Given the description of an element on the screen output the (x, y) to click on. 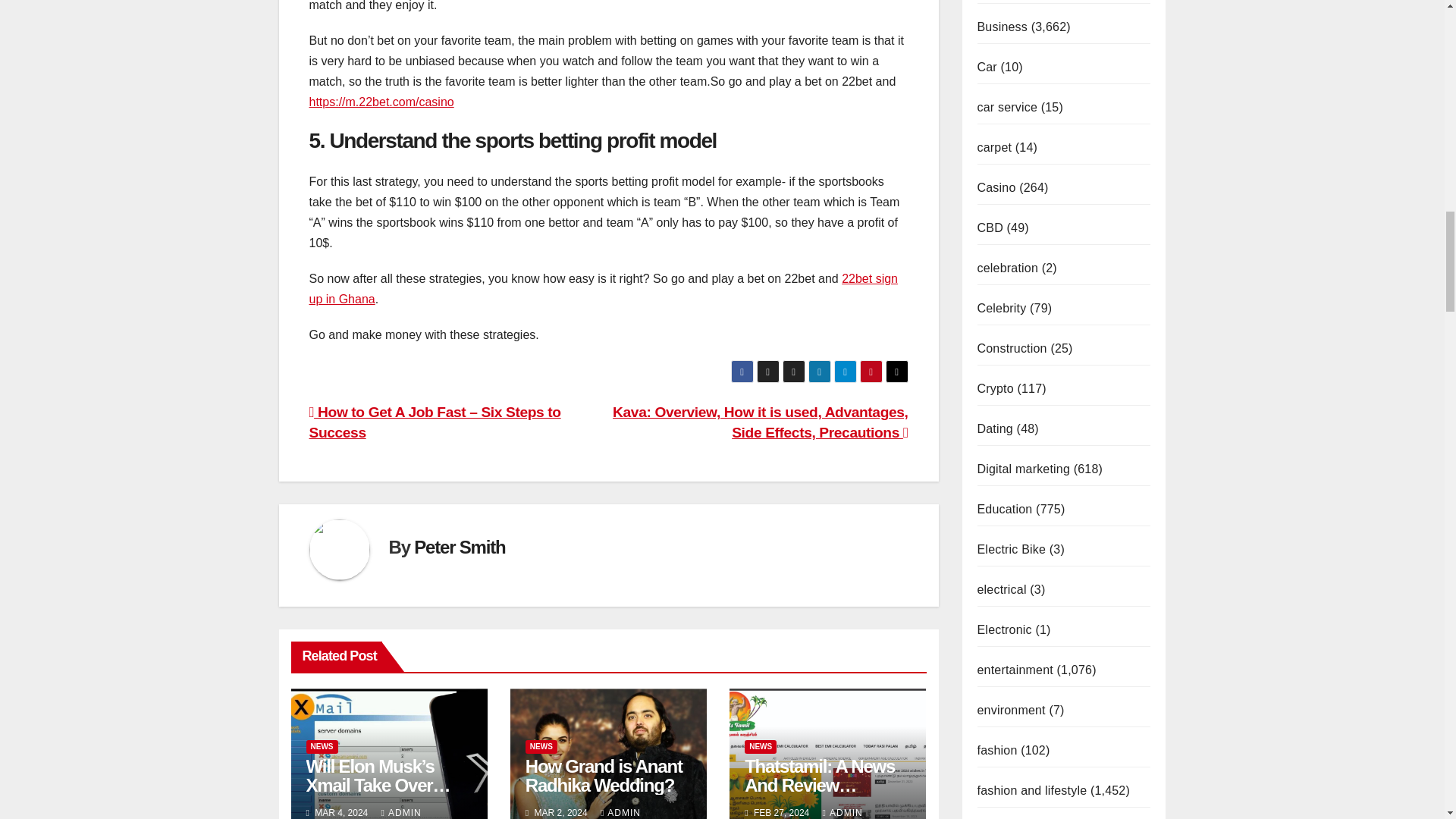
Peter Smith (459, 547)
NEWS (541, 746)
ADMIN (619, 812)
ADMIN (401, 812)
NEWS (321, 746)
22bet sign up in Ghana (603, 288)
How Grand is Anant Radhika Wedding? (603, 775)
Permalink to: How Grand is Anant Radhika Wedding? (603, 775)
